Given the description of an element on the screen output the (x, y) to click on. 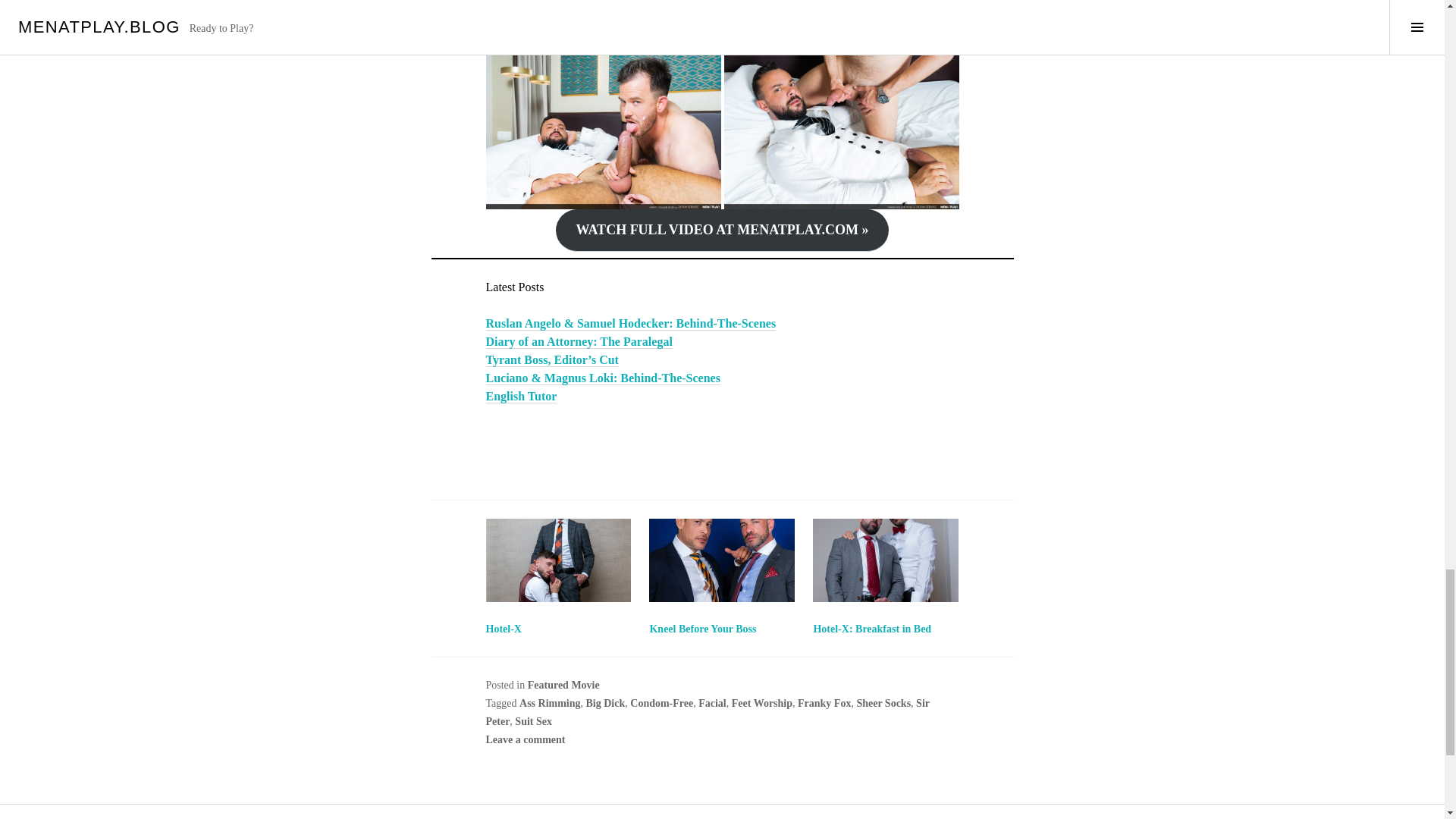
Kneel Before Your Boss (702, 628)
Hotel-X (502, 628)
Feet Worship (762, 703)
Leave a comment (524, 739)
Hotel-X: Breakfast in Bed (871, 628)
Kneel Before Your Boss (721, 559)
Hotel-X (557, 559)
Suit Sex (533, 721)
Franky Fox (823, 703)
Featured Movie (563, 685)
Facial (712, 703)
Condom-Free (661, 703)
Sir Peter (706, 712)
Kneel Before Your Boss (702, 628)
Sheer Socks (883, 703)
